Given the description of an element on the screen output the (x, y) to click on. 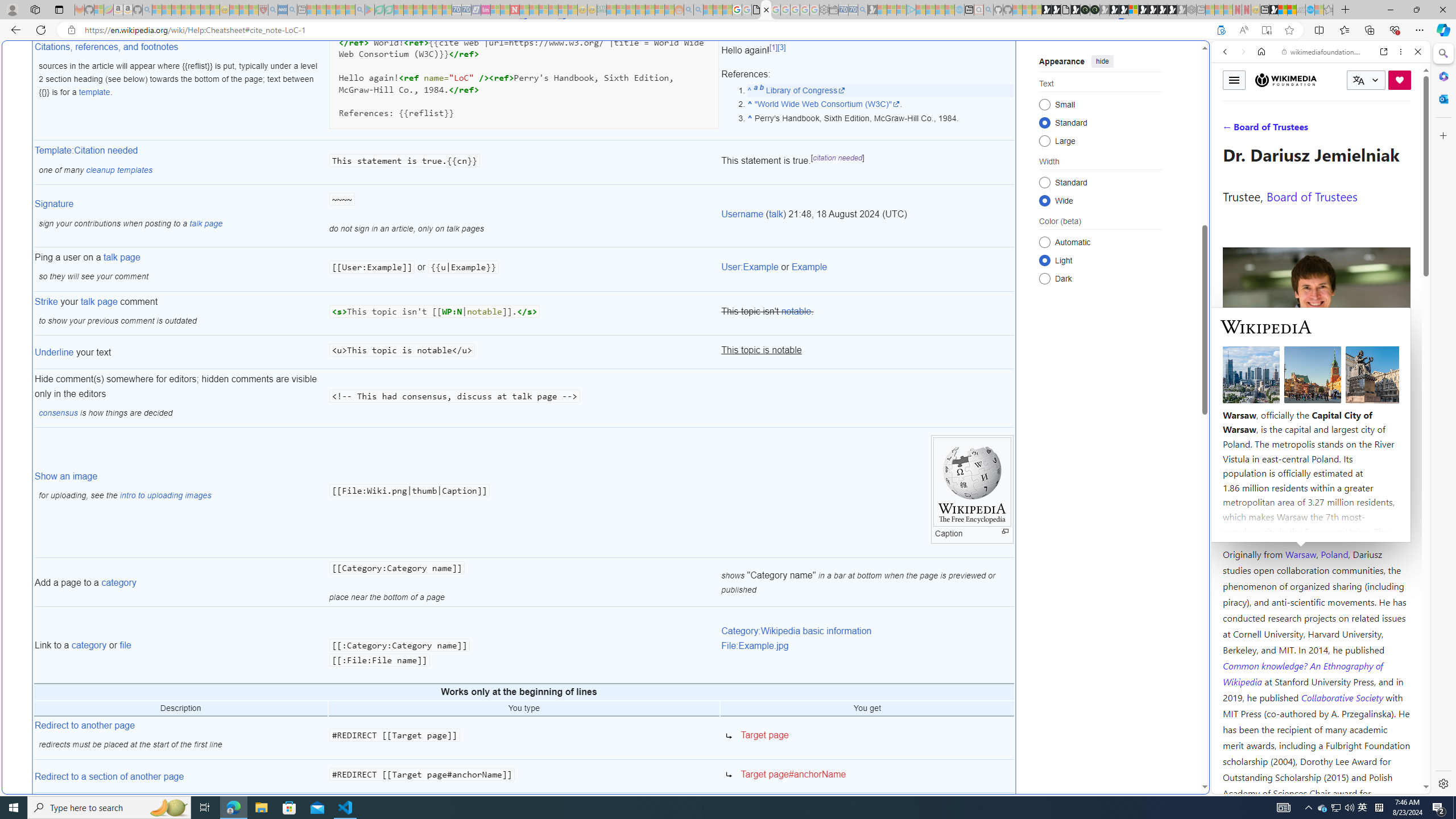
Username (742, 213)
Help:Cheatsheet - Wikipedia (766, 9)
citation needed (837, 157)
Jump up (749, 117)
wikimediafoundation.org (1323, 51)
#REDIRECT [[Target page#anchorName]] (523, 776)
Redirect to a section of another page (180, 776)
Close split screen (1208, 57)
